Given the description of an element on the screen output the (x, y) to click on. 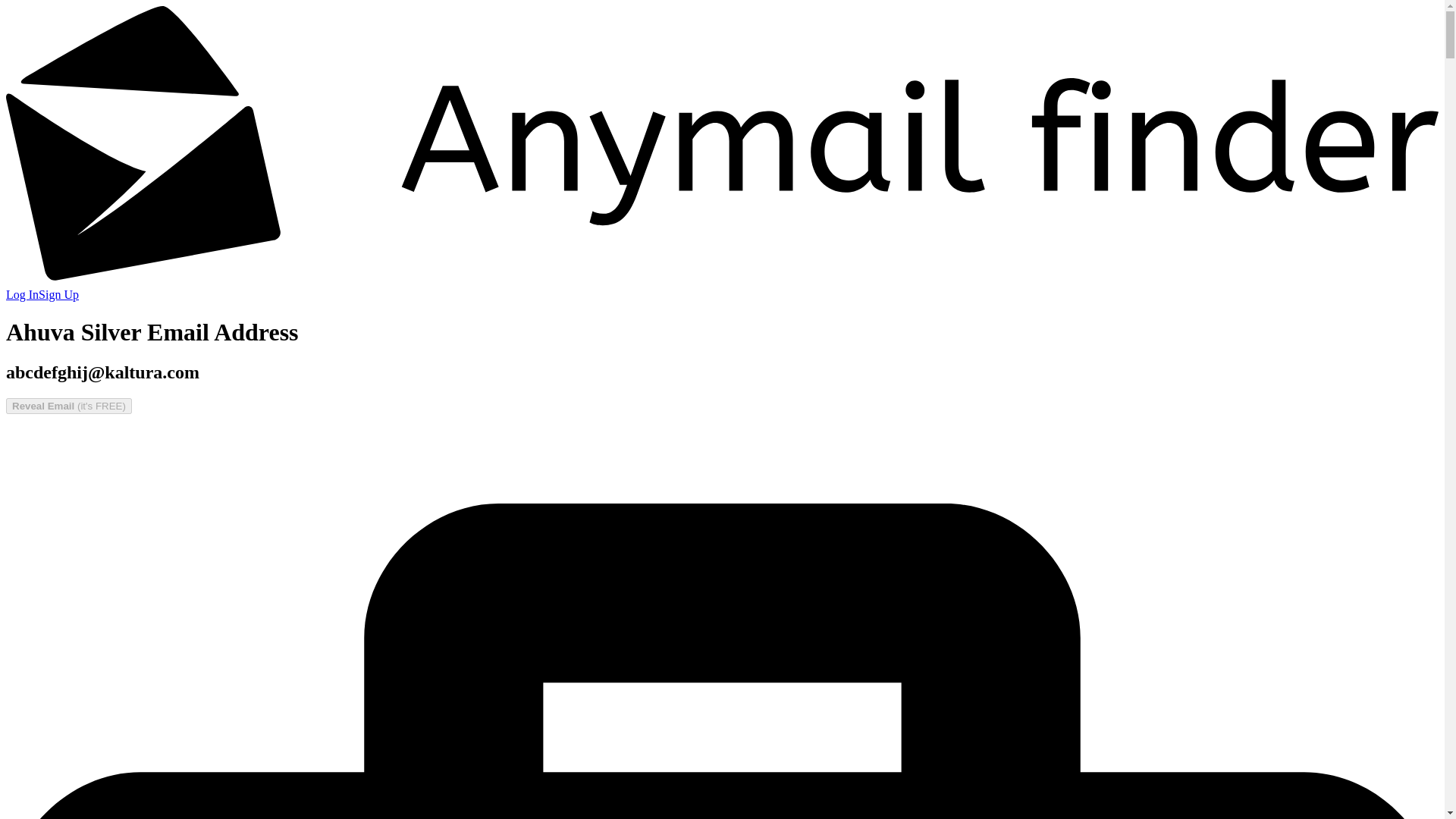
Sign Up (58, 294)
Log In (22, 294)
